Given the description of an element on the screen output the (x, y) to click on. 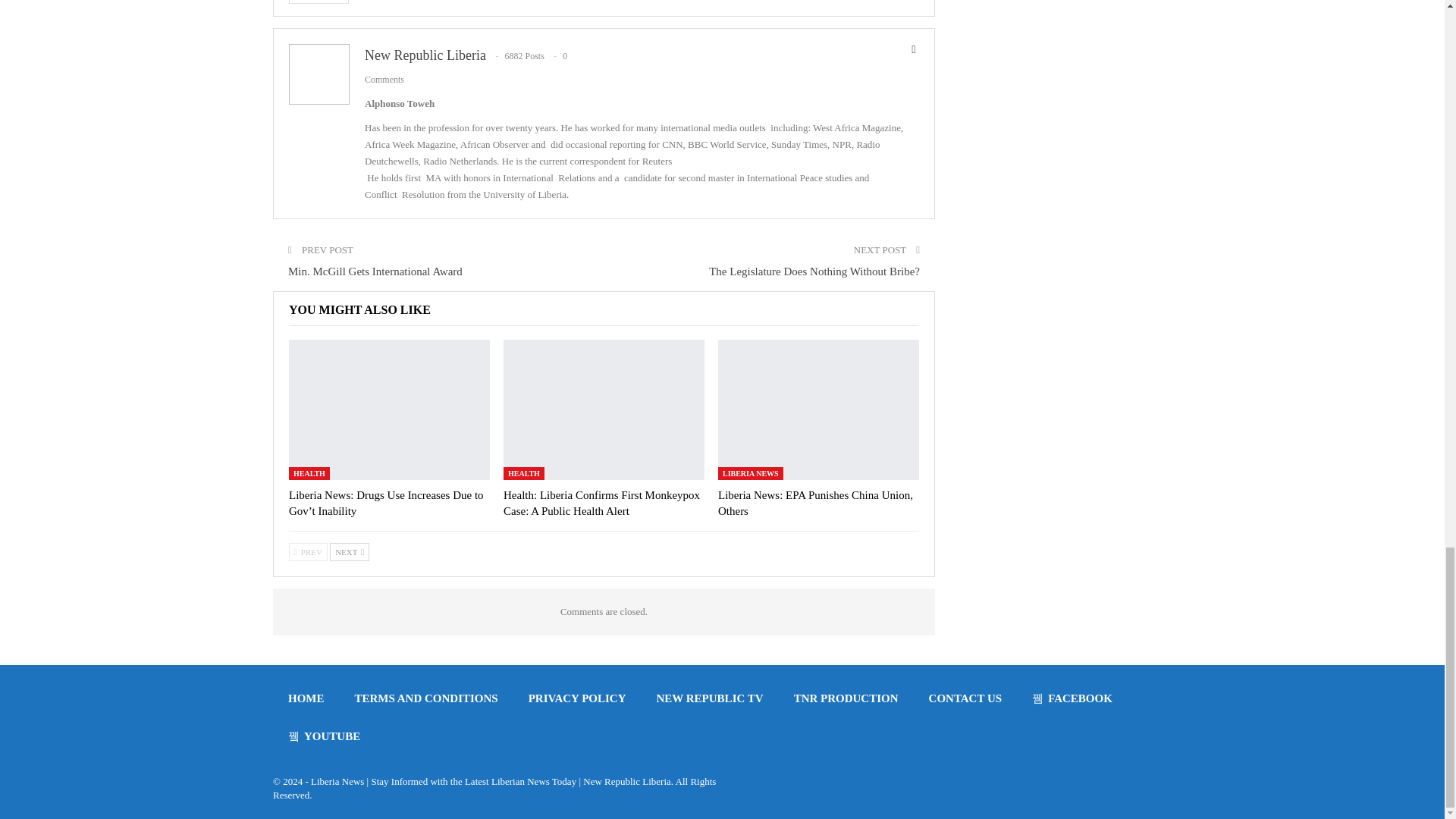
Liberia News: EPA Punishes China Union, Others (814, 502)
Next (349, 551)
Previous (307, 551)
Liberia News: EPA Punishes China Union, Others (817, 409)
